Given the description of an element on the screen output the (x, y) to click on. 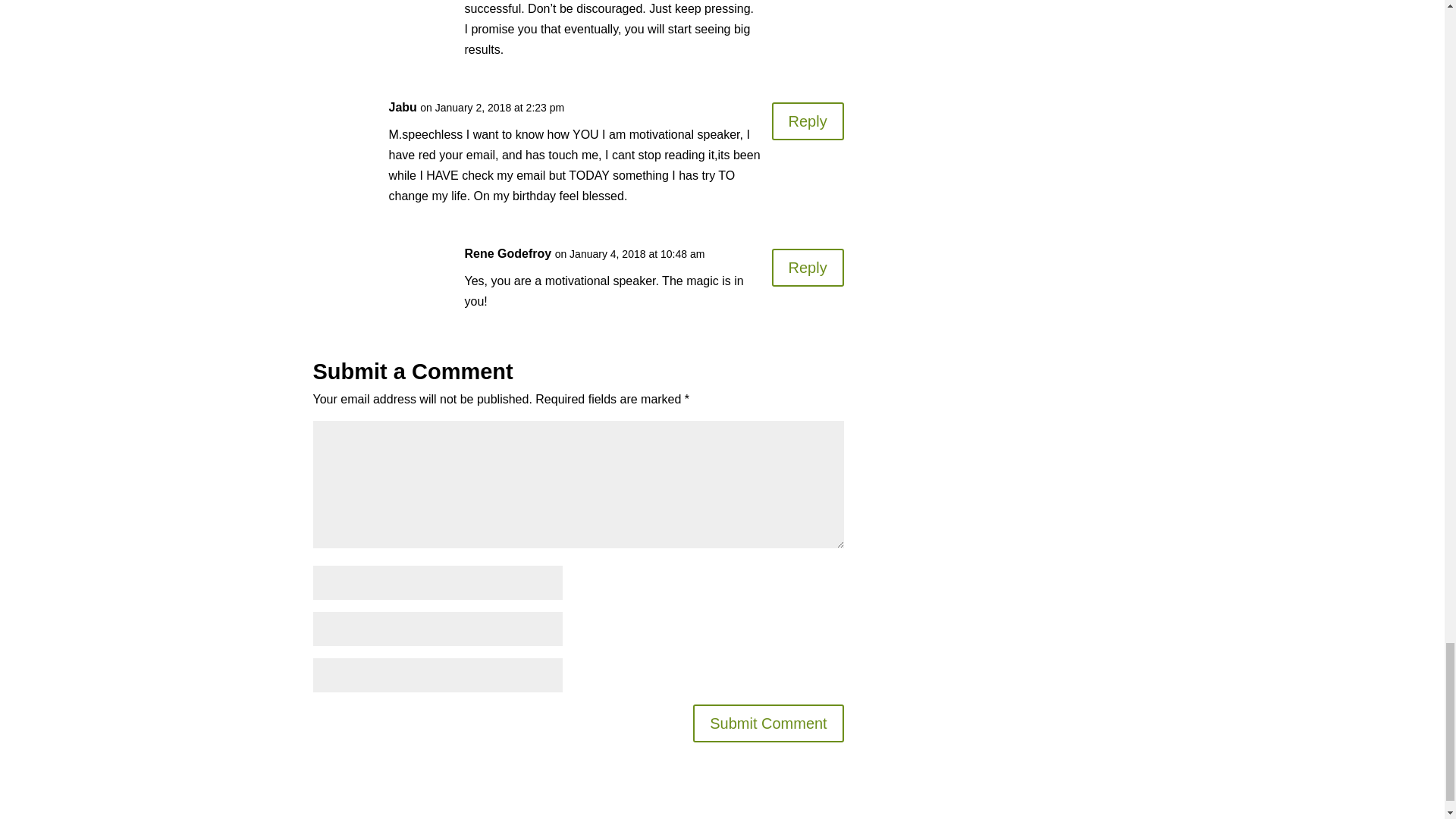
Rene Godefroy (507, 252)
Reply (807, 121)
